Given the description of an element on the screen output the (x, y) to click on. 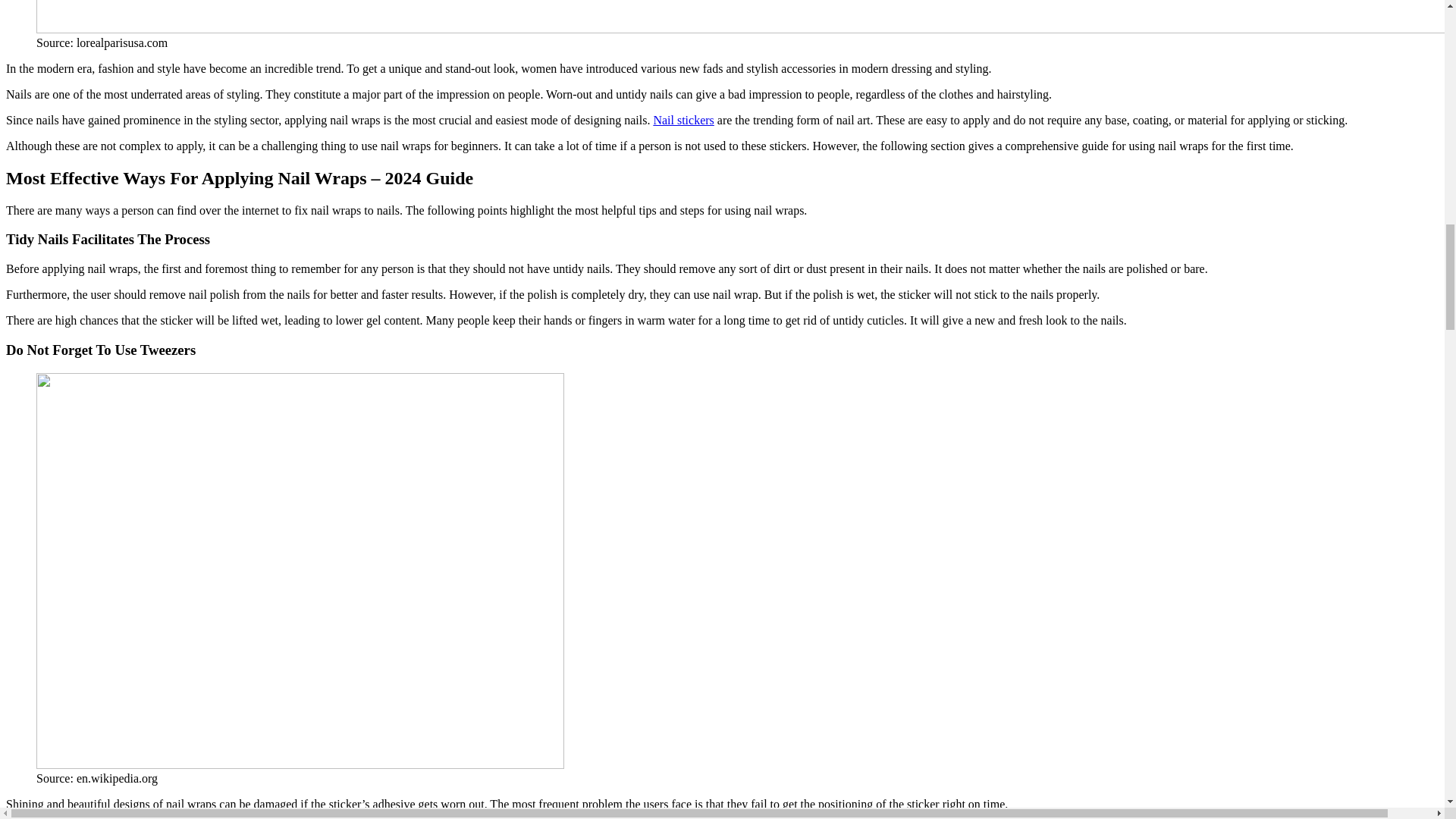
Nail stickers (682, 119)
